Given the description of an element on the screen output the (x, y) to click on. 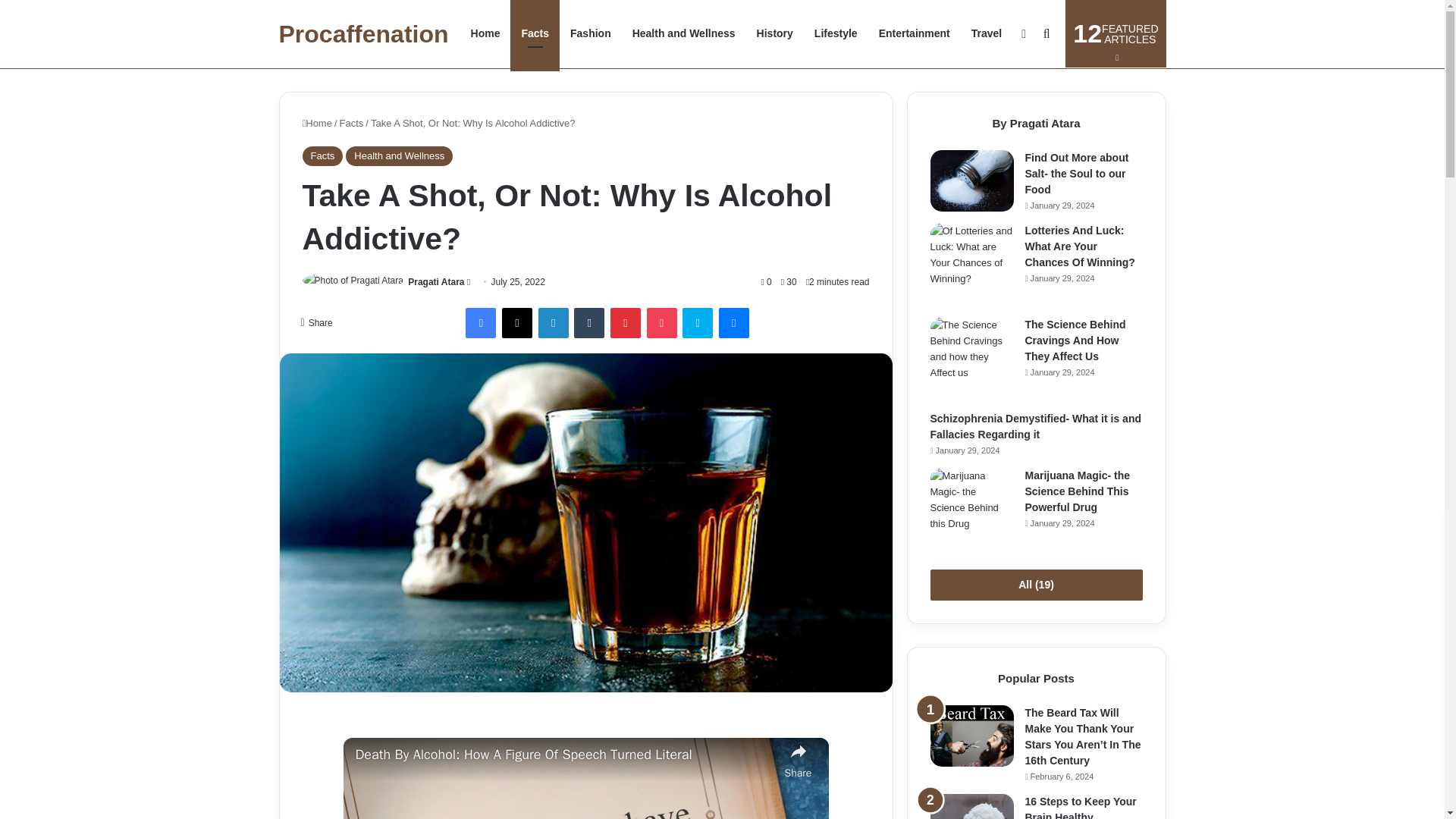
Procaffenation (363, 34)
X (517, 322)
Entertainment (1115, 33)
Procaffenation (913, 33)
Fashion (363, 34)
Health and Wellness (590, 33)
Tumblr (683, 33)
Lifestyle (588, 322)
Facebook (835, 33)
Pinterest (480, 322)
LinkedIn (625, 322)
Pragati Atara (553, 322)
